Given the description of an element on the screen output the (x, y) to click on. 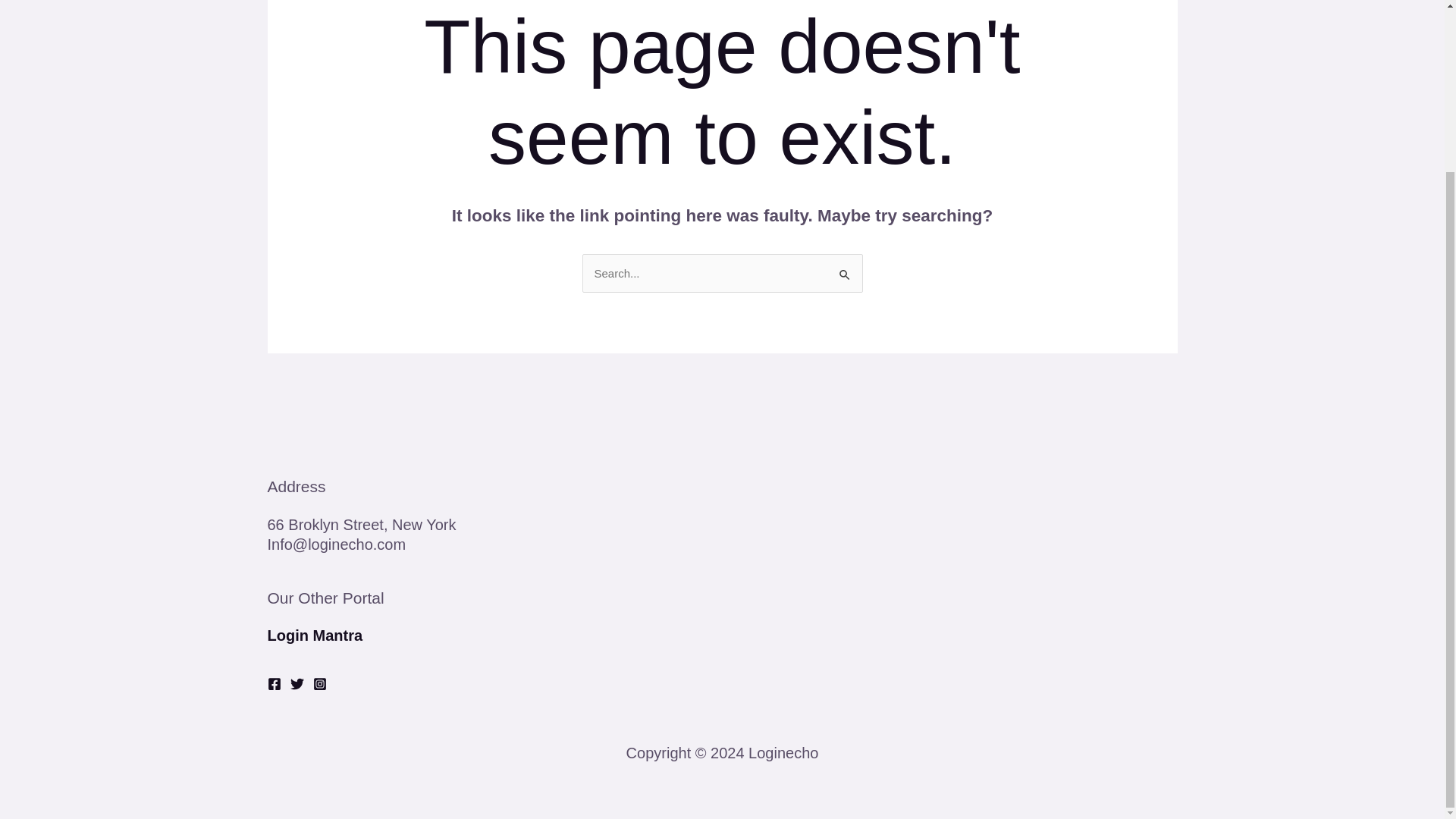
Search (844, 269)
Login Mantra (314, 635)
Search (844, 269)
Search (844, 269)
